Given the description of an element on the screen output the (x, y) to click on. 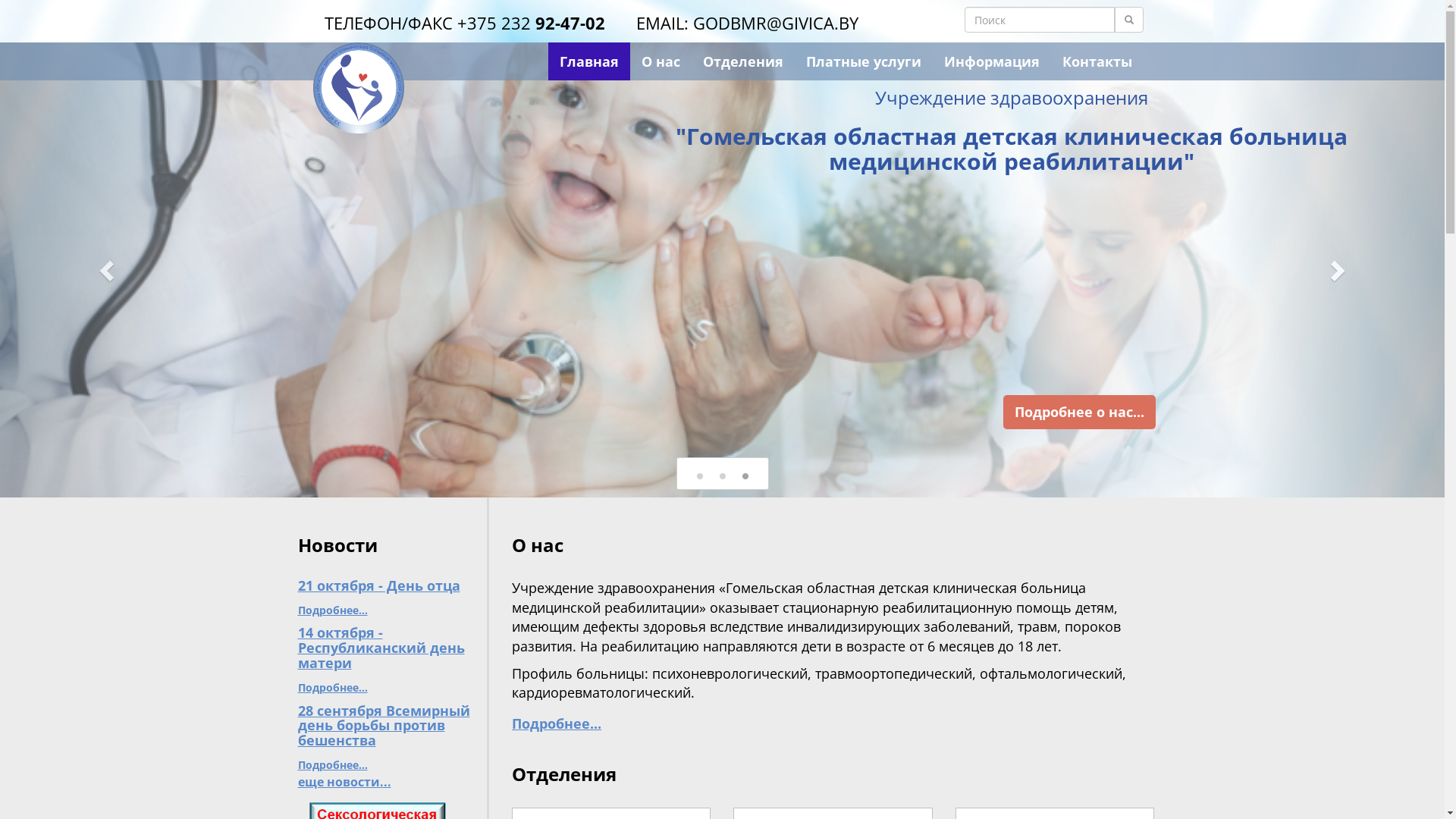
Next Element type: text (1335, 269)
Previous Element type: text (108, 269)
